Given the description of an element on the screen output the (x, y) to click on. 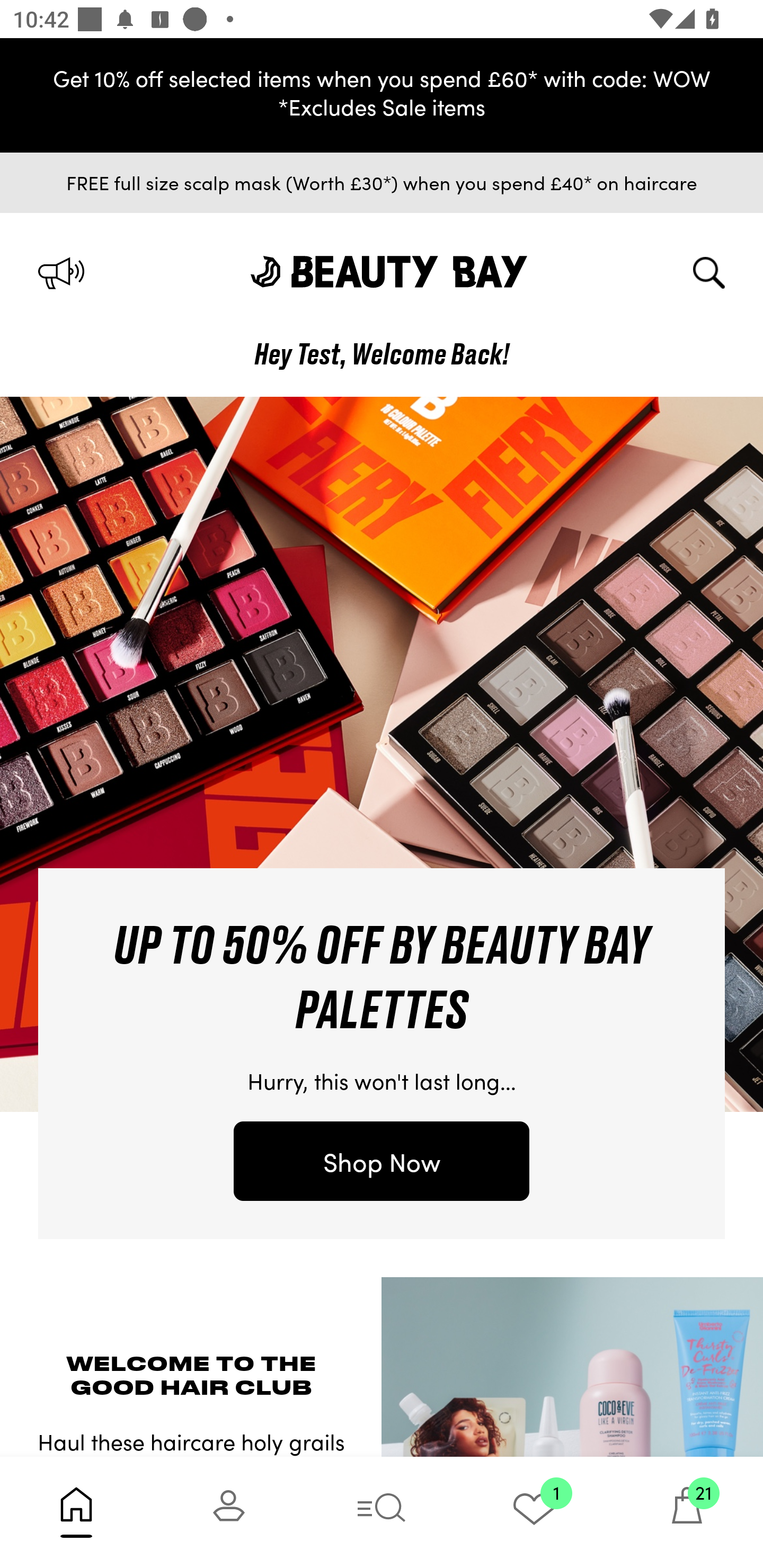
1 (533, 1512)
21 (686, 1512)
